Given the description of an element on the screen output the (x, y) to click on. 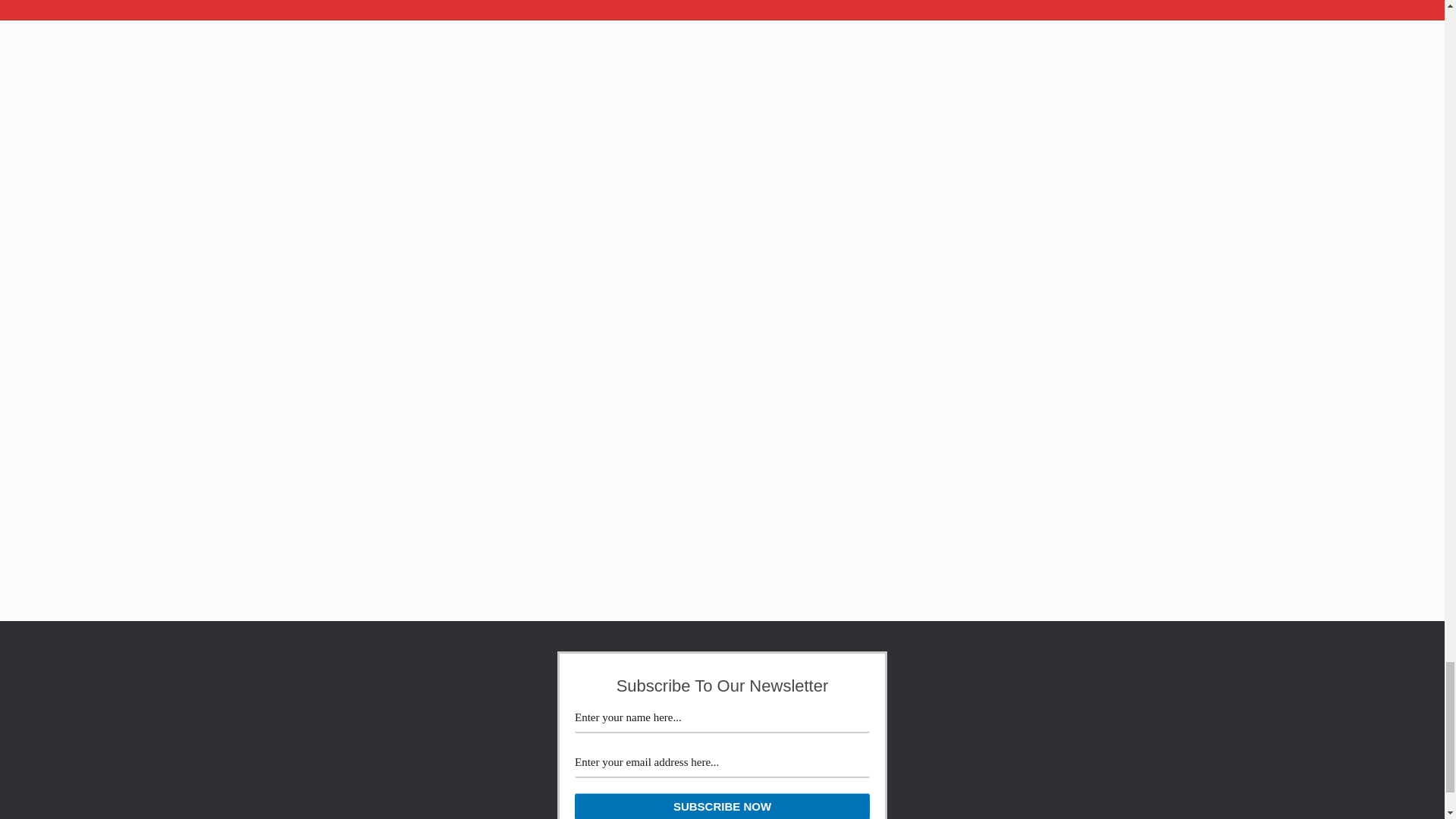
Subscribe Now (722, 806)
